Given the description of an element on the screen output the (x, y) to click on. 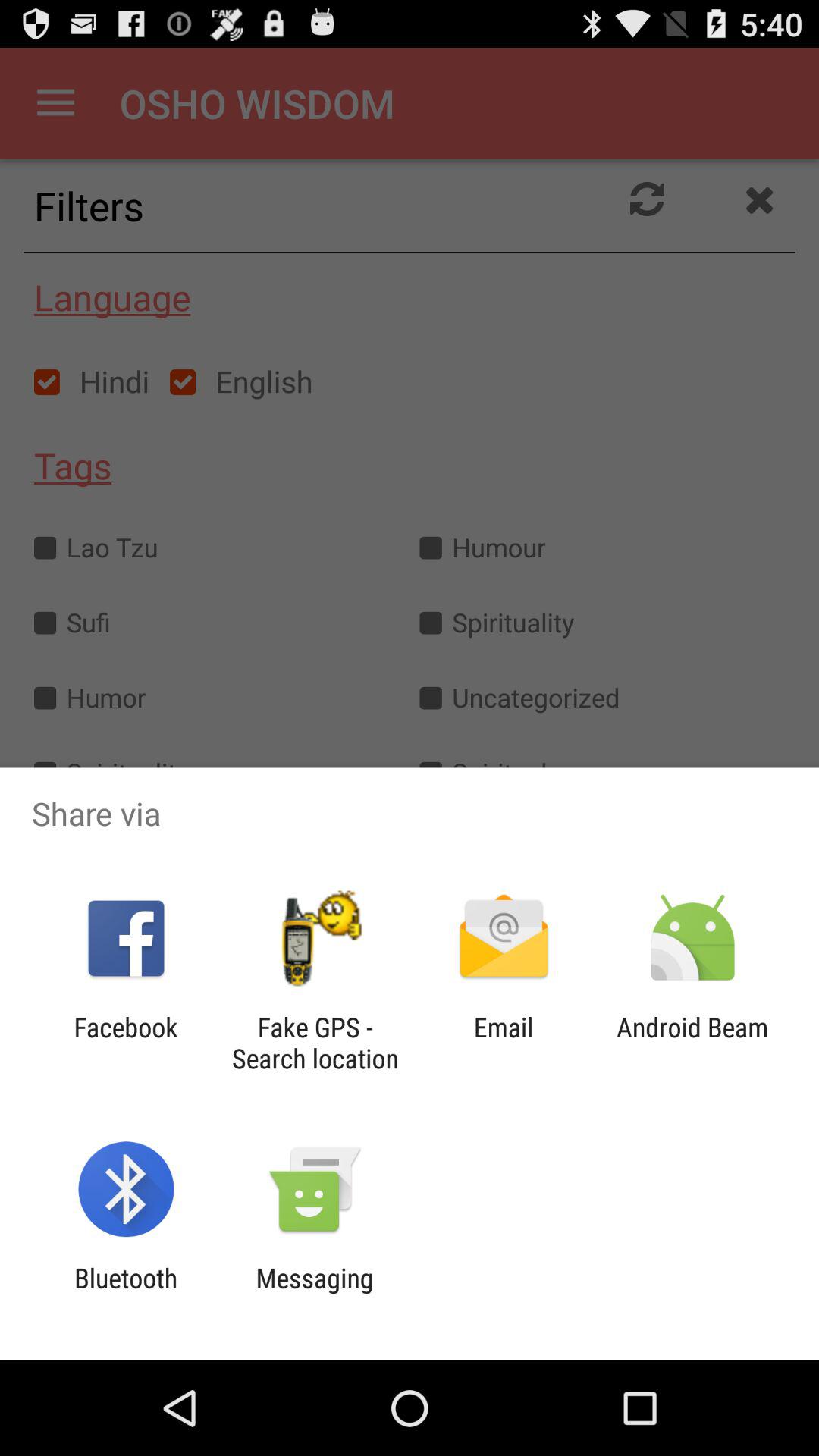
click the item to the left of android beam item (503, 1042)
